Given the description of an element on the screen output the (x, y) to click on. 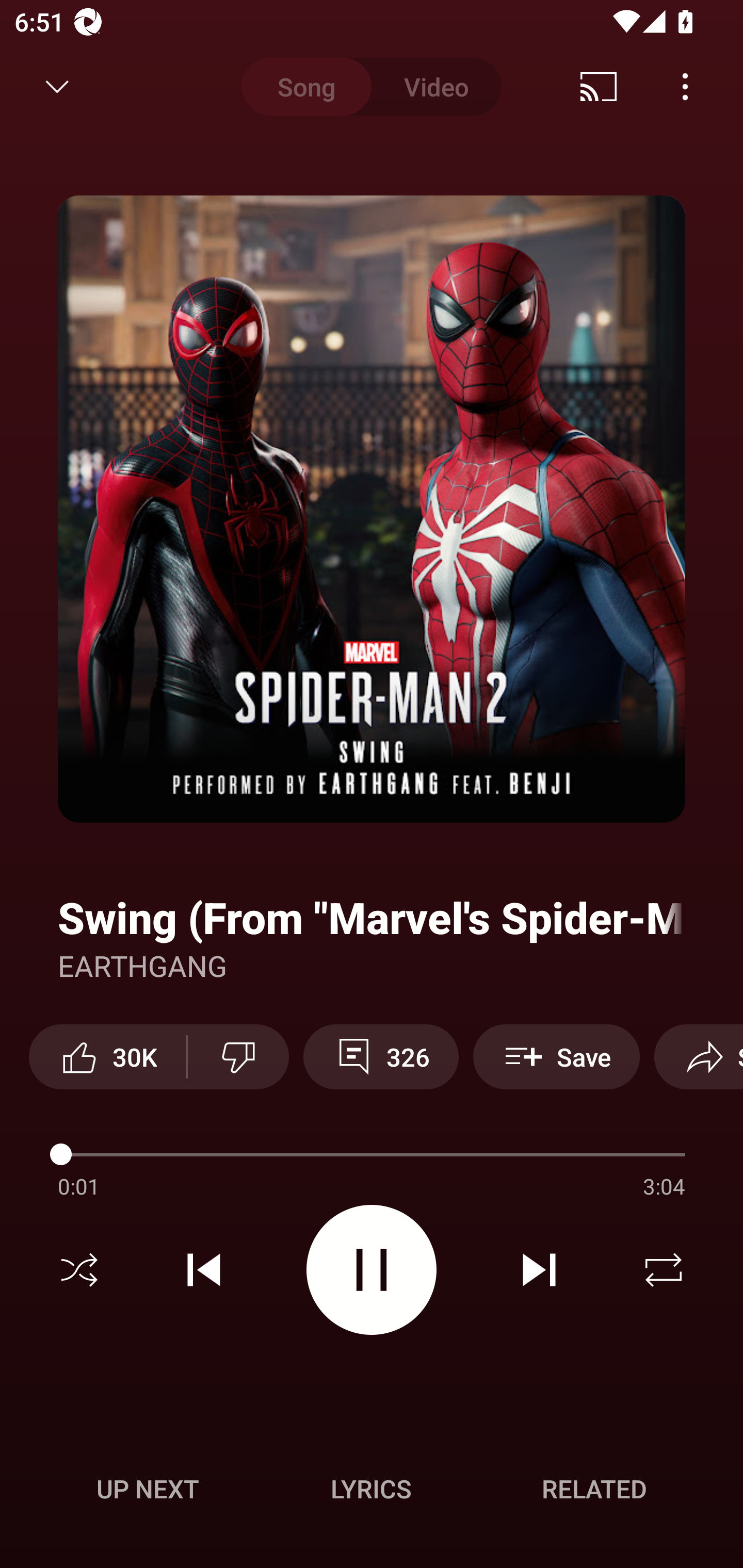
Minimize (57, 86)
Cast. Disconnected (598, 86)
Menu (684, 86)
30K like this video along with 30,883 other people (106, 1056)
Dislike (238, 1056)
326 View 326 comments (380, 1056)
Save Save to playlist (556, 1056)
Share (698, 1056)
Pause video (371, 1269)
Shuffle off (79, 1269)
Previous track (203, 1269)
Next track (538, 1269)
Repeat off (663, 1269)
Up next UP NEXT Lyrics LYRICS Related RELATED (371, 1491)
Lyrics LYRICS (370, 1488)
Related RELATED (594, 1488)
